Given the description of an element on the screen output the (x, y) to click on. 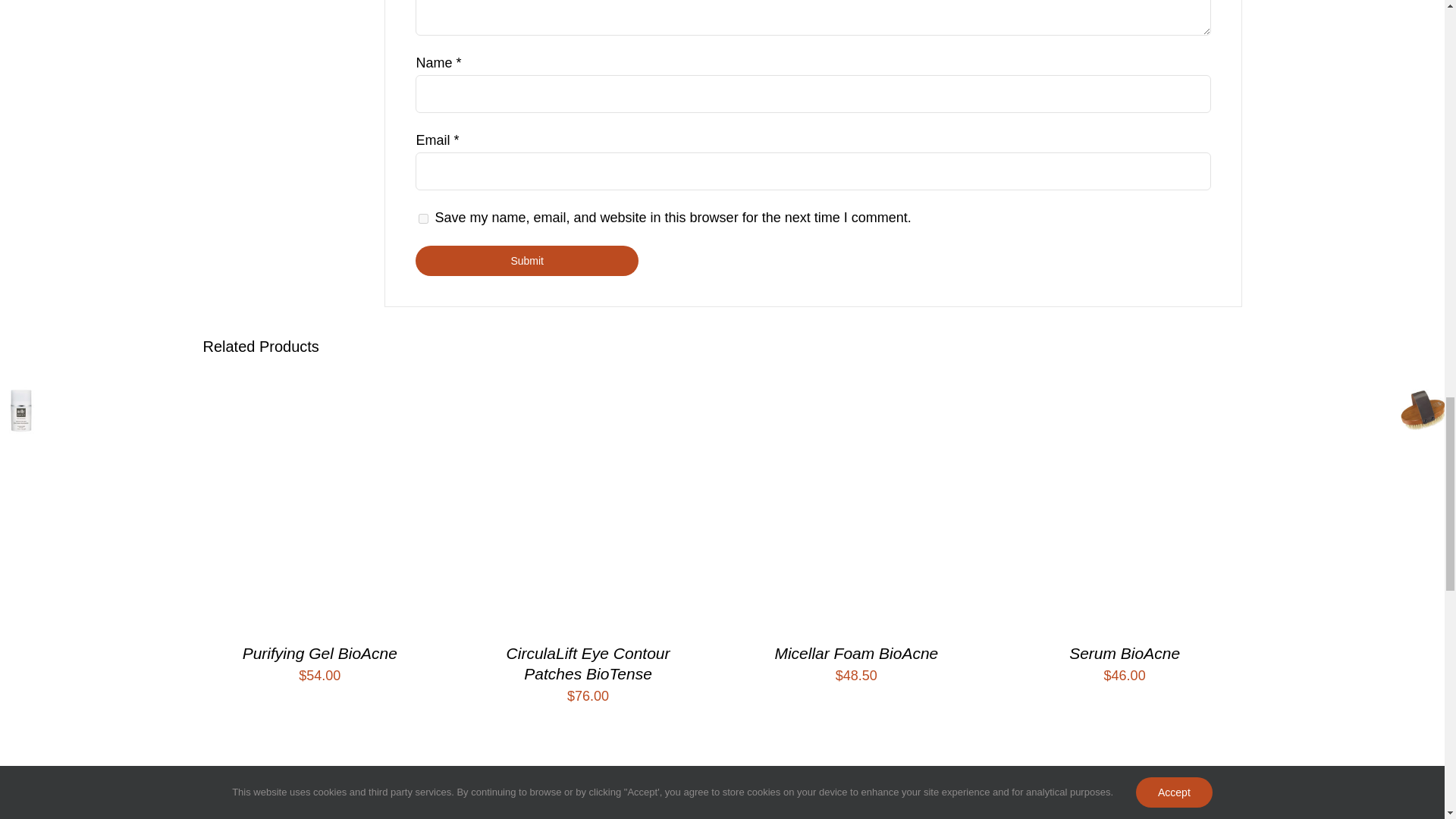
yes (423, 218)
Submit (525, 260)
